Given the description of an element on the screen output the (x, y) to click on. 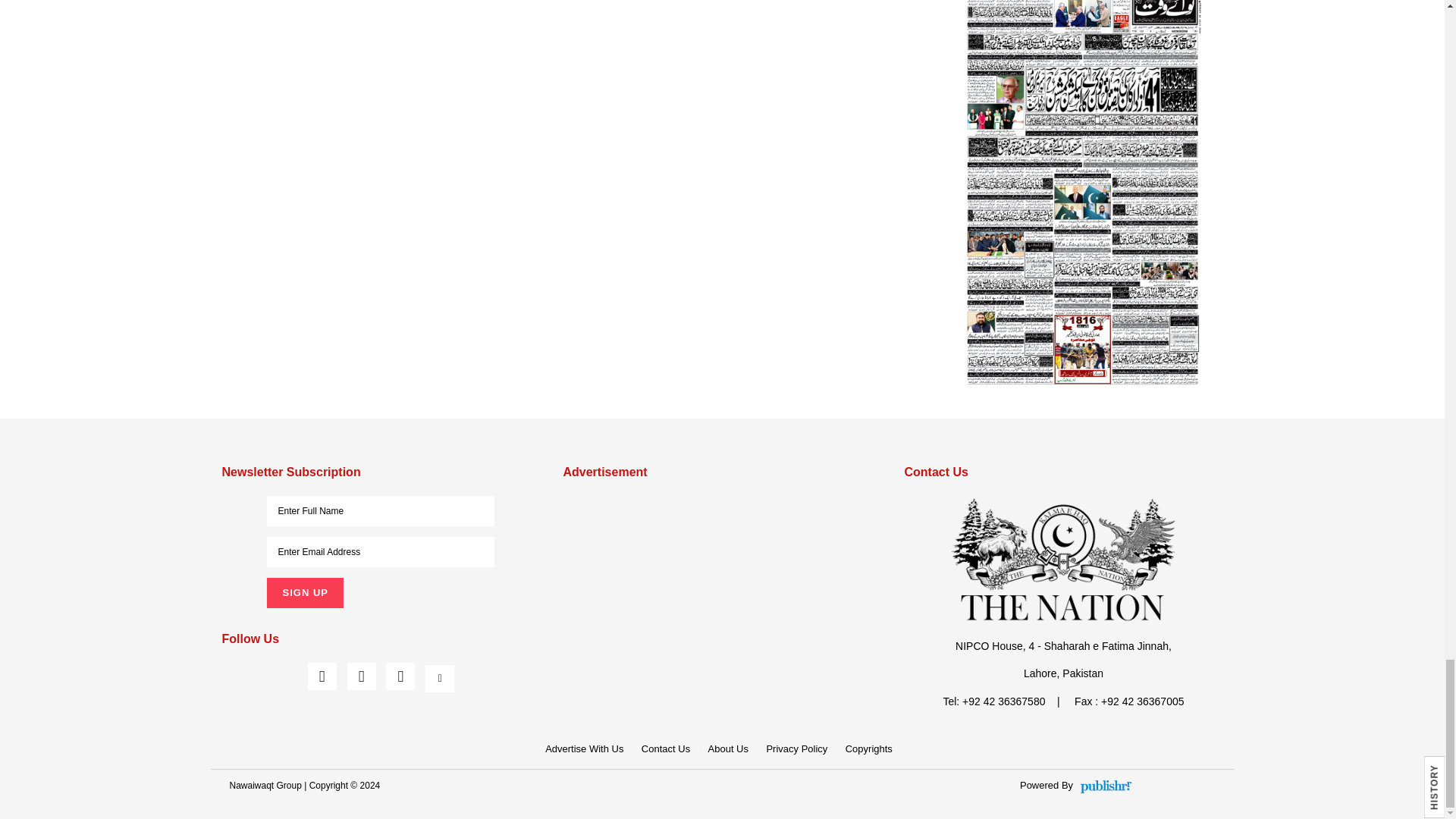
Sign up (304, 593)
